Given the description of an element on the screen output the (x, y) to click on. 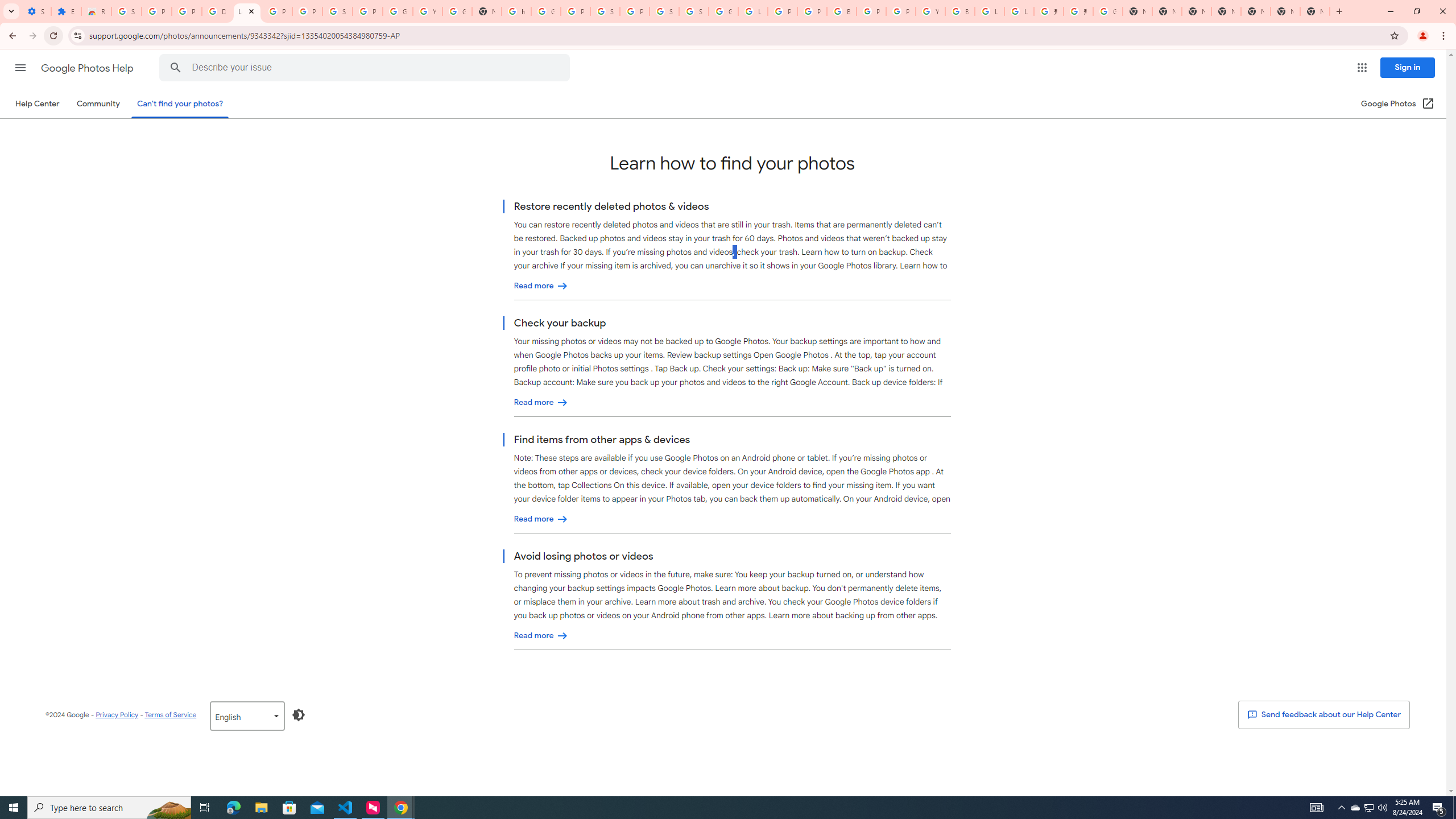
New Tab (1226, 11)
Google Photos (Open in a new window) (1397, 103)
Sign in - Google Accounts (664, 11)
Avoid losing photos or videos (541, 635)
Main menu (20, 67)
Learn how to find your photos - Google Photos Help (247, 11)
